Given the description of an element on the screen output the (x, y) to click on. 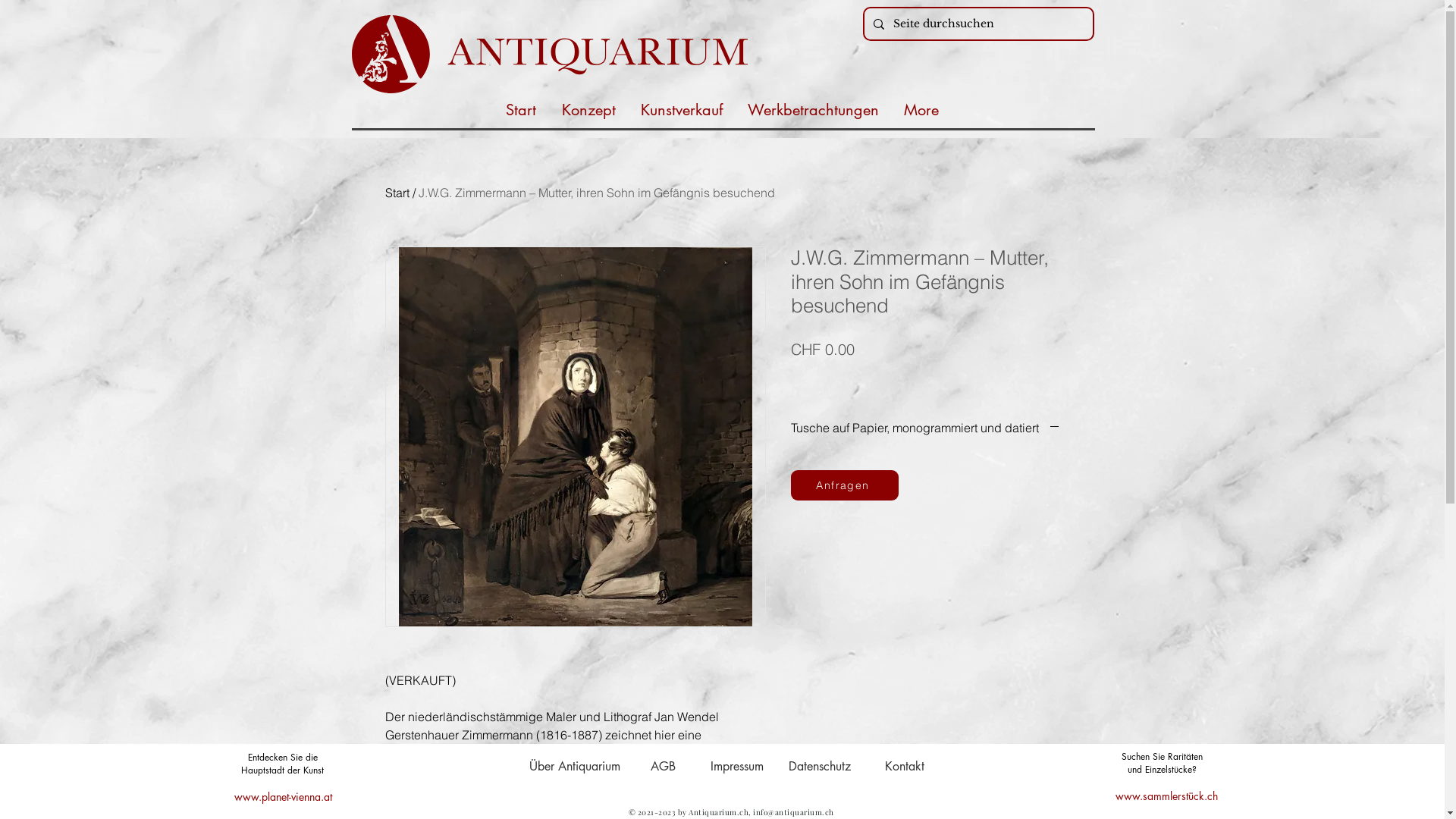
Datenschutz Element type: text (819, 766)
info@antiquarium.ch Element type: text (793, 811)
Tusche auf Papier, monogrammiert und datiert Element type: text (924, 427)
Kontakt Element type: text (904, 766)
Konzept Element type: text (588, 108)
Impressum Element type: text (736, 766)
www.planet-vienna.at Element type: text (282, 796)
Start Element type: text (520, 108)
AGB Element type: text (662, 766)
Start Element type: text (397, 192)
Anfragen Element type: text (843, 485)
Kunstverkauf Element type: text (680, 108)
Werkbetrachtungen Element type: text (813, 108)
